Given the description of an element on the screen output the (x, y) to click on. 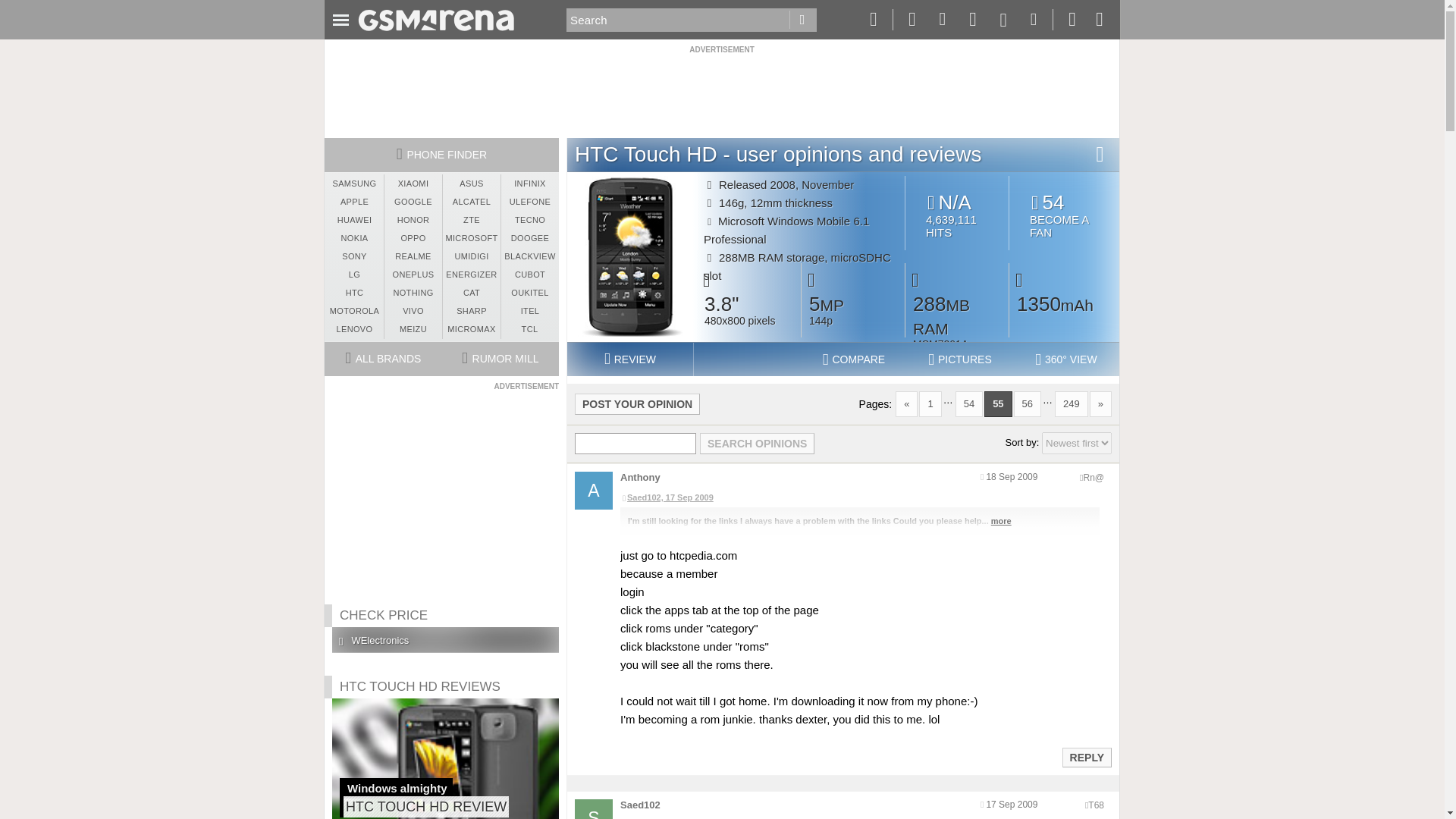
REVIEW (1064, 214)
Reply to this post (630, 359)
Encoded anonymized location (1086, 757)
POST YOUR OPINION (1093, 477)
Sort comments by (637, 403)
Go (1077, 443)
Search opinions (802, 19)
COMPARE (756, 443)
Encoded anonymized location (853, 359)
Go (1095, 805)
PICTURES (802, 19)
